Given the description of an element on the screen output the (x, y) to click on. 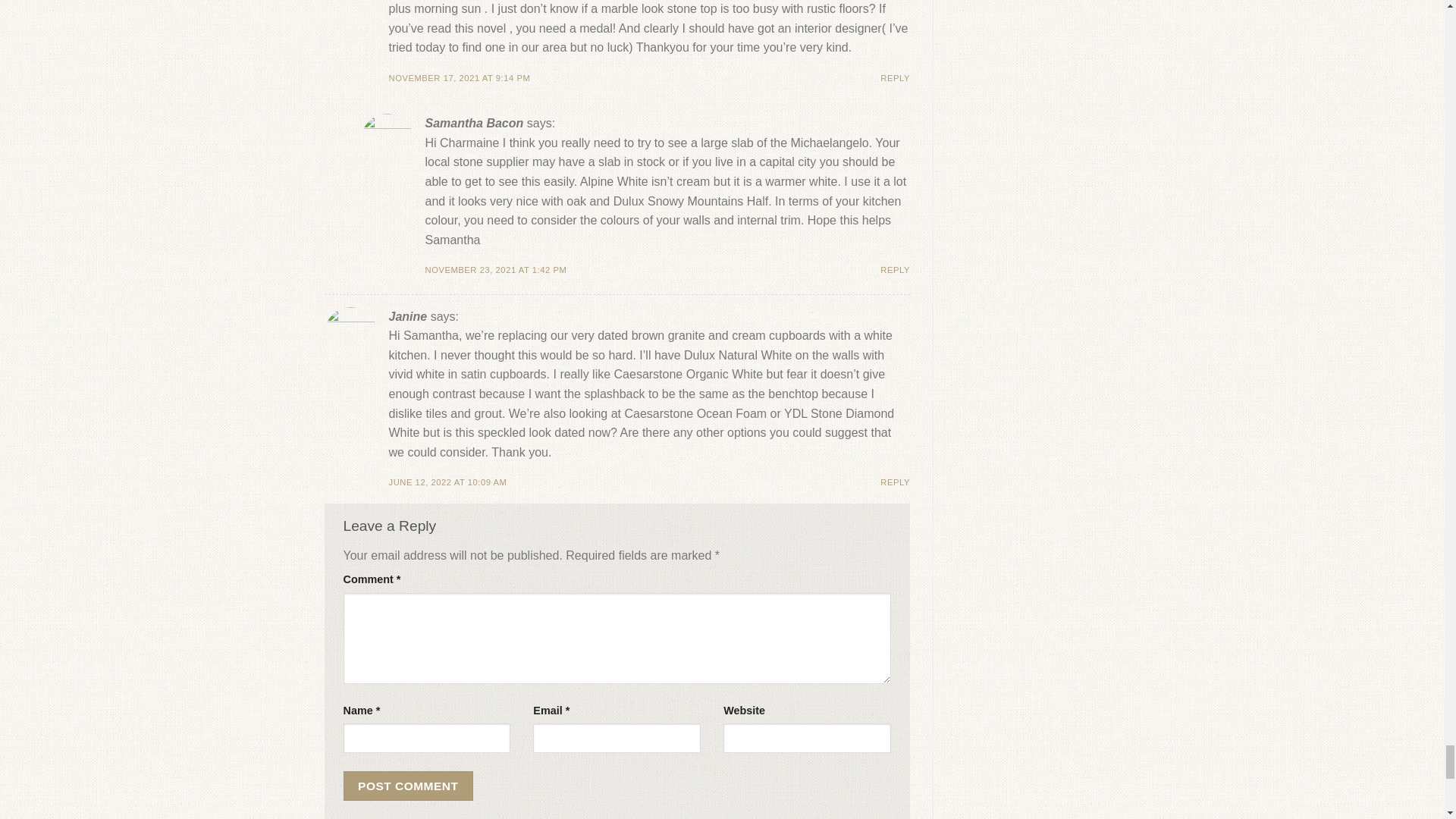
Post Comment (407, 785)
